Given the description of an element on the screen output the (x, y) to click on. 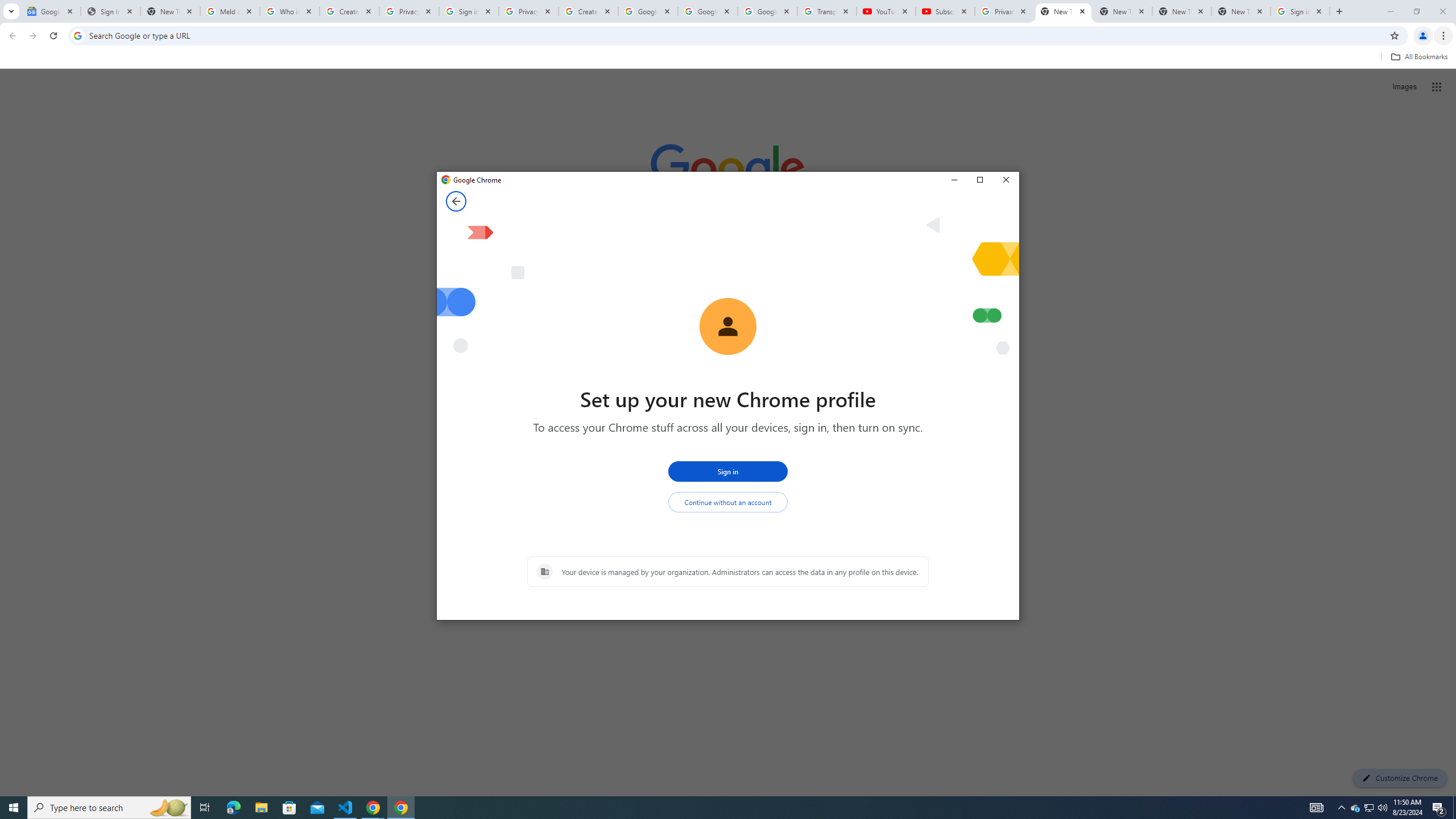
Notification Chevron (1341, 807)
Bookmarks (728, 58)
AutomationID: 4105 (1316, 807)
Microsoft Edge (233, 807)
New Tab (1063, 11)
Google Account (767, 11)
